Given the description of an element on the screen output the (x, y) to click on. 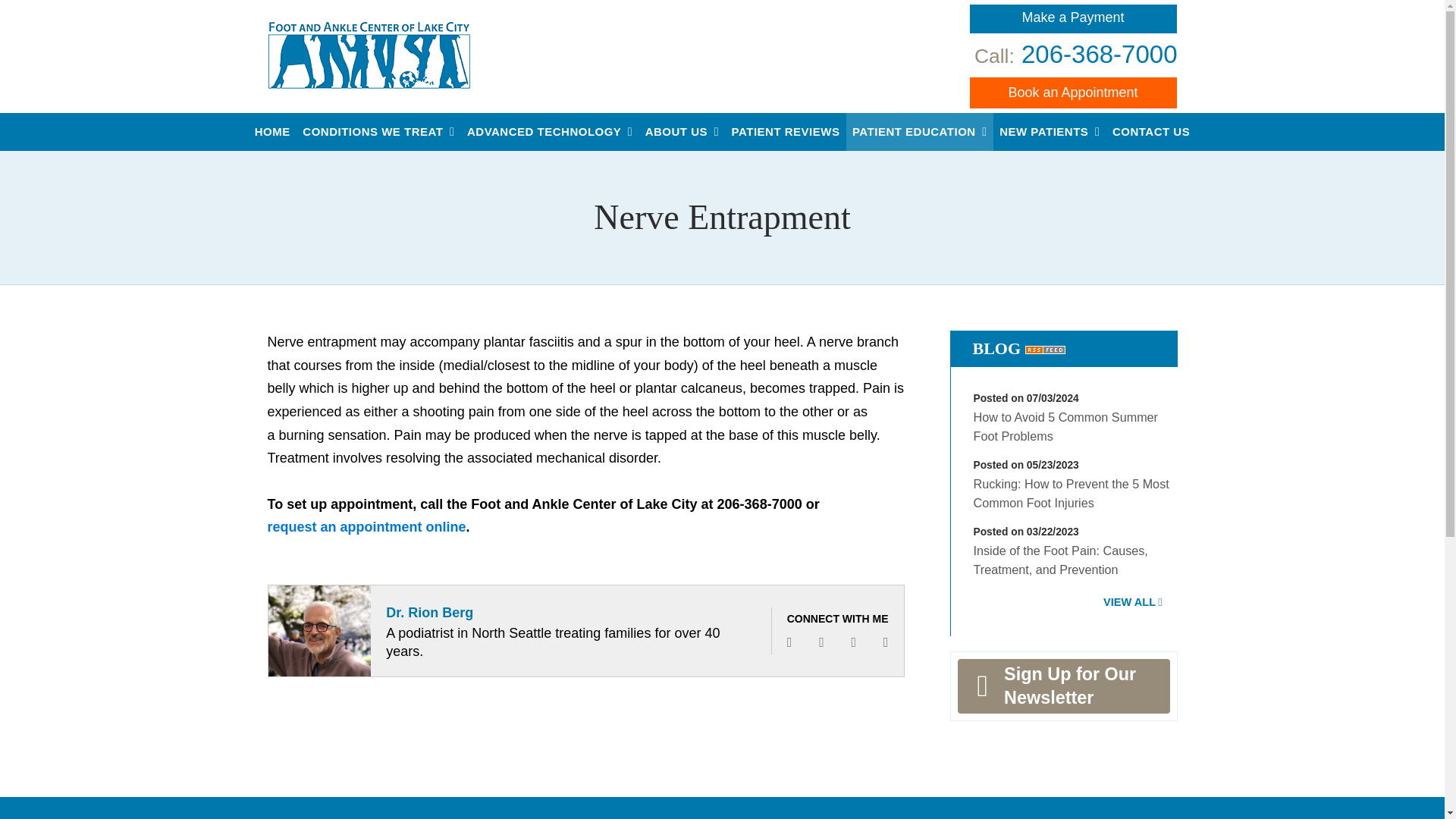
Make a Payment (1073, 19)
ABOUT US (682, 132)
ADVANCED TECHNOLOGY (550, 132)
HOME (272, 132)
CONDITIONS WE TREAT (379, 132)
Book an Appointment (1073, 92)
Subscribe to our RSS Feed (1045, 348)
